Given the description of an element on the screen output the (x, y) to click on. 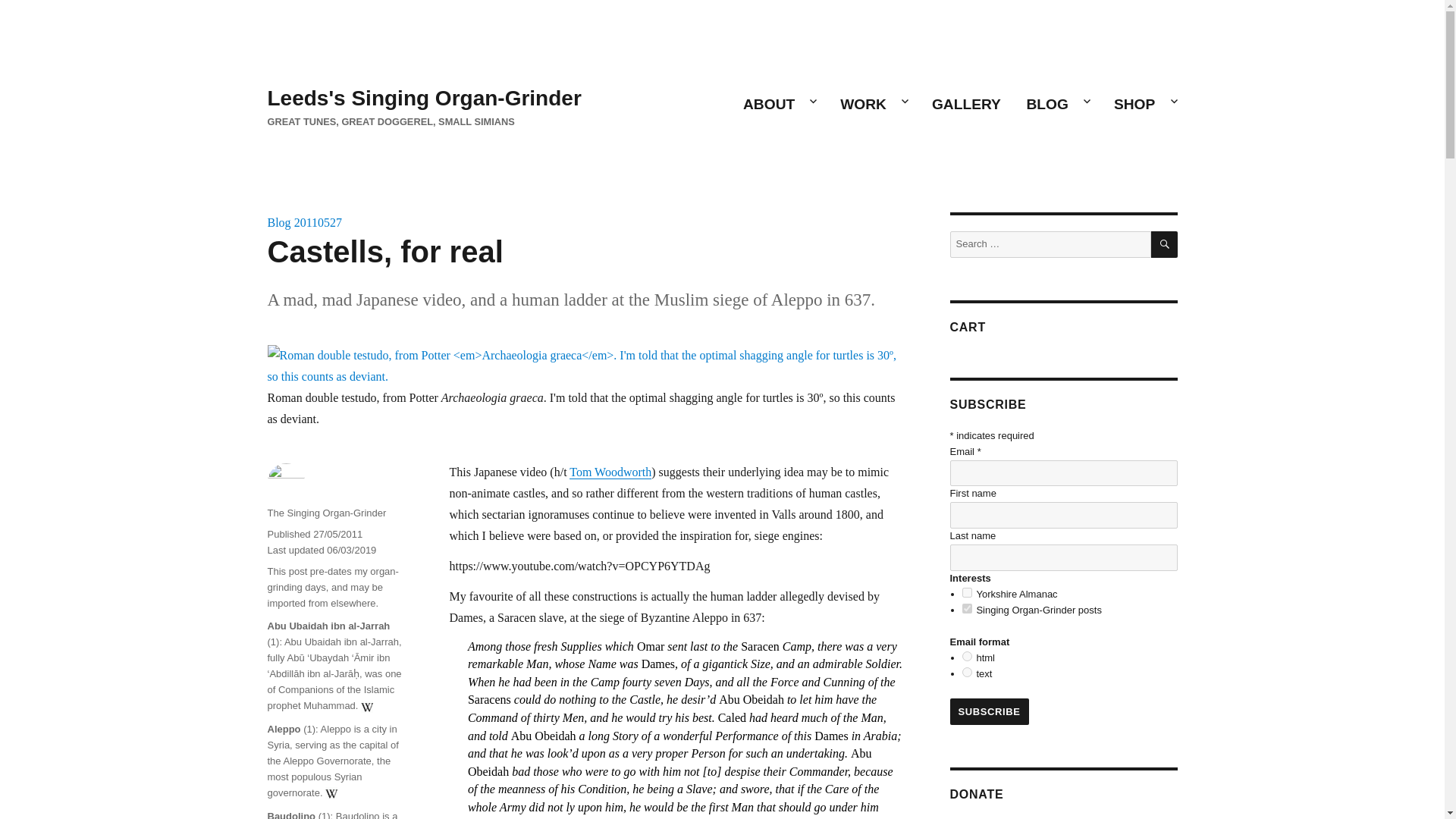
Tom Woodworth (609, 472)
1 (967, 592)
Leeds's Singing Organ-Grinder (423, 97)
SHOP (1144, 103)
BLOG (1056, 103)
2 (967, 608)
Blog (277, 222)
ABOUT (778, 103)
05 (323, 222)
WORK (872, 103)
html (967, 655)
text (967, 672)
GALLERY (965, 103)
27 (336, 222)
Subscribe (988, 711)
